Given the description of an element on the screen output the (x, y) to click on. 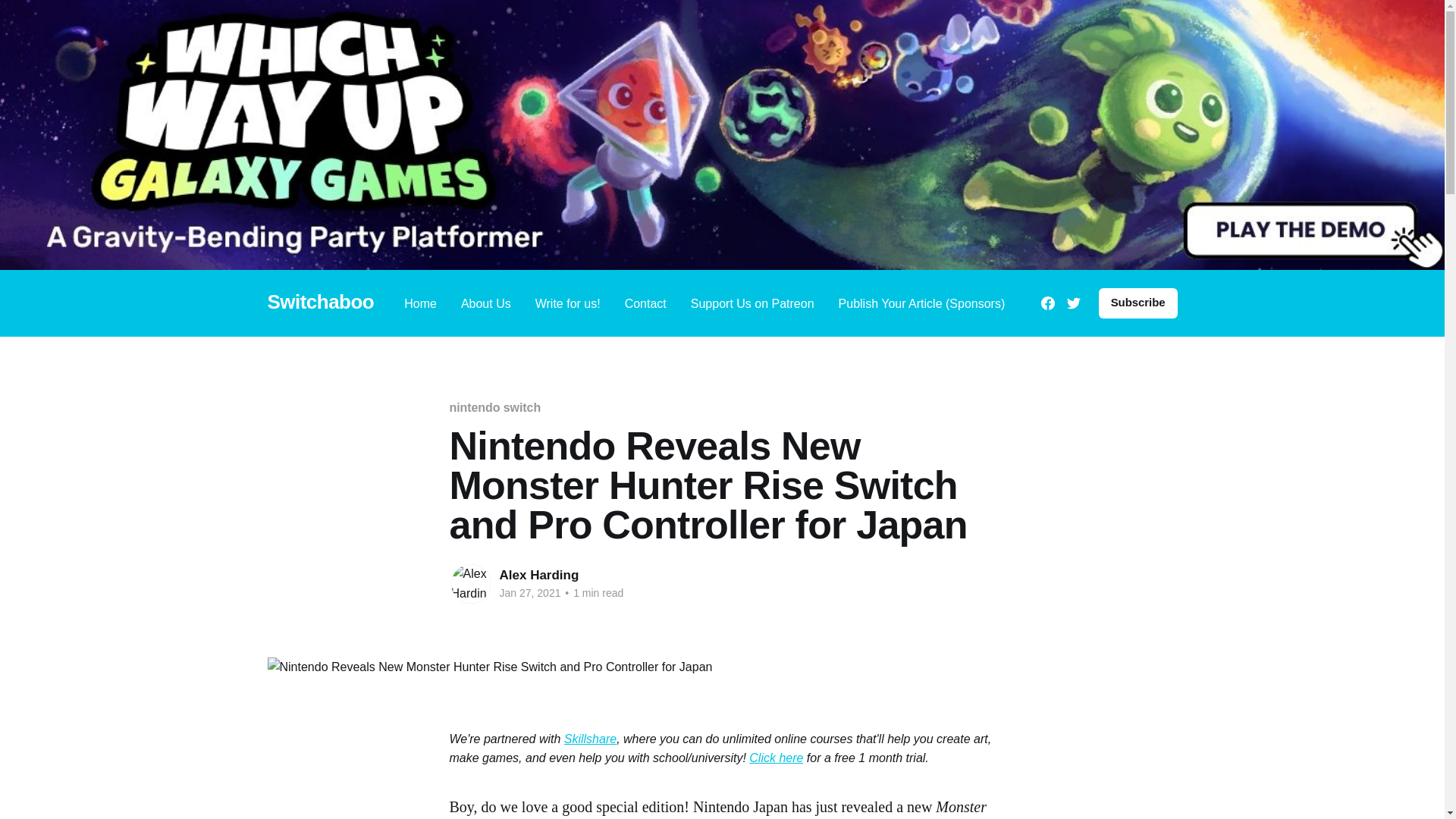
Home (420, 302)
Skillshare (589, 738)
nintendo switch (494, 407)
Support Us on Patreon (751, 302)
Switchaboo (320, 302)
About Us (486, 302)
Alex Harding (538, 575)
Write for us! (567, 302)
Click here (776, 757)
Facebook (1047, 303)
